Given the description of an element on the screen output the (x, y) to click on. 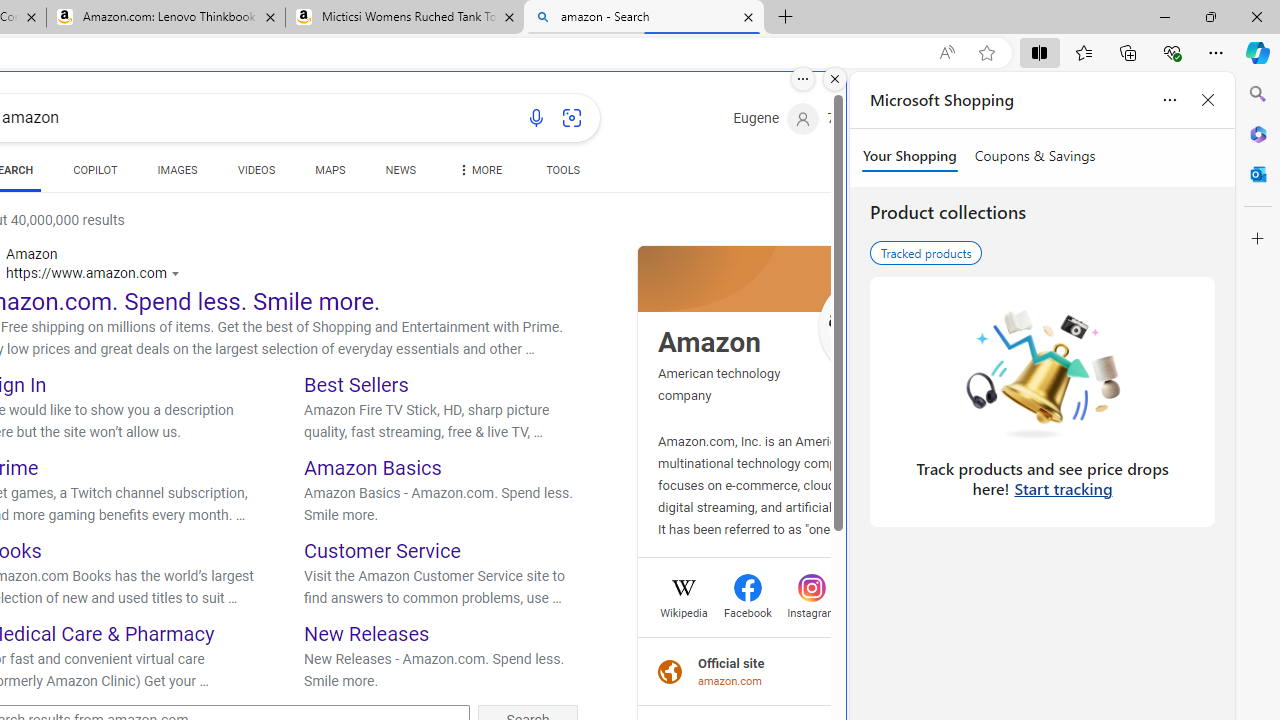
VIDEOS (256, 170)
COPILOT (95, 173)
Wikipedia (683, 610)
See more images of Amazon (868, 327)
